Given the description of an element on the screen output the (x, y) to click on. 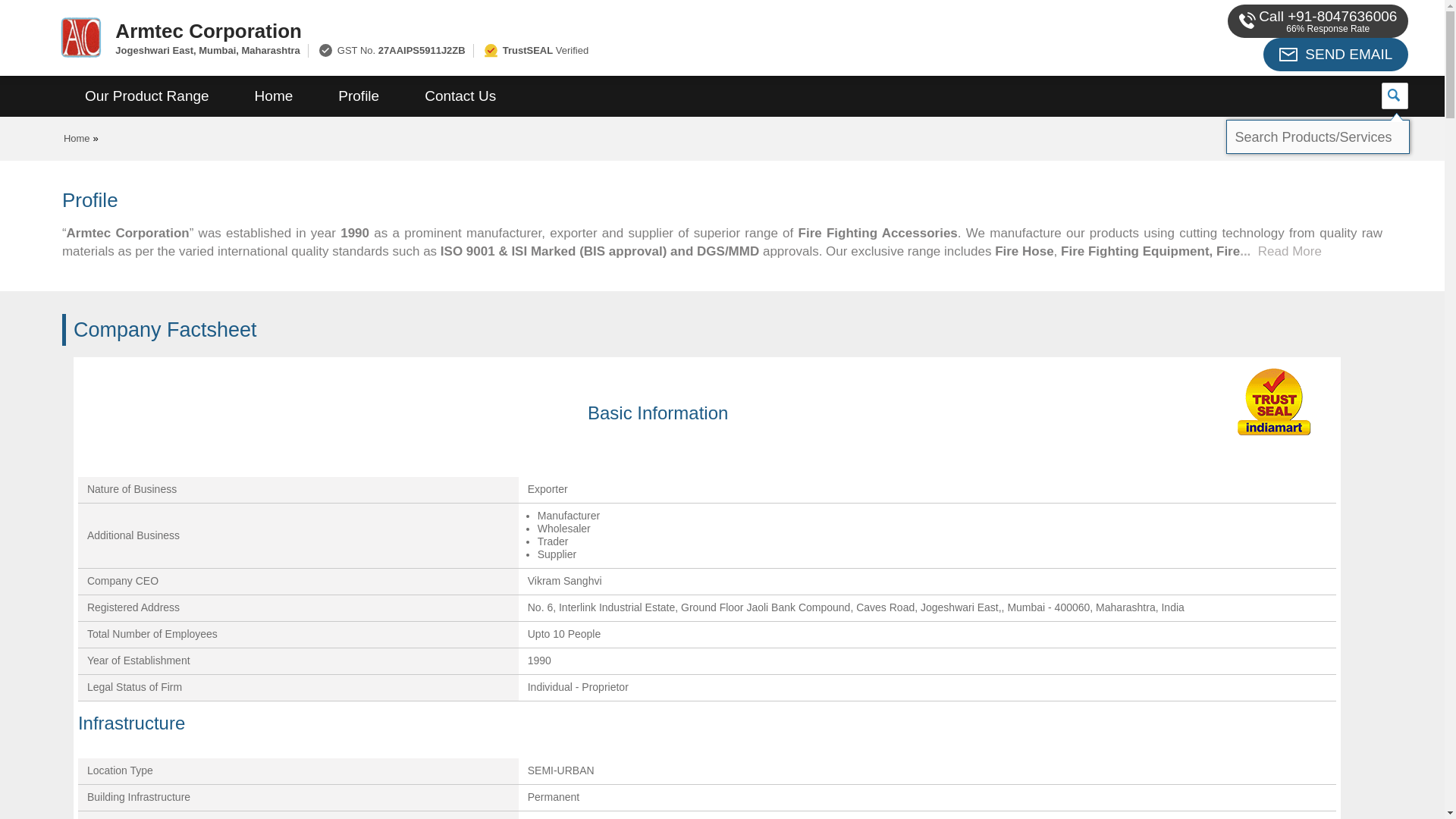
Home (273, 96)
Profile (358, 96)
Our Product Range (146, 96)
Armtec Corporation (552, 31)
